Given the description of an element on the screen output the (x, y) to click on. 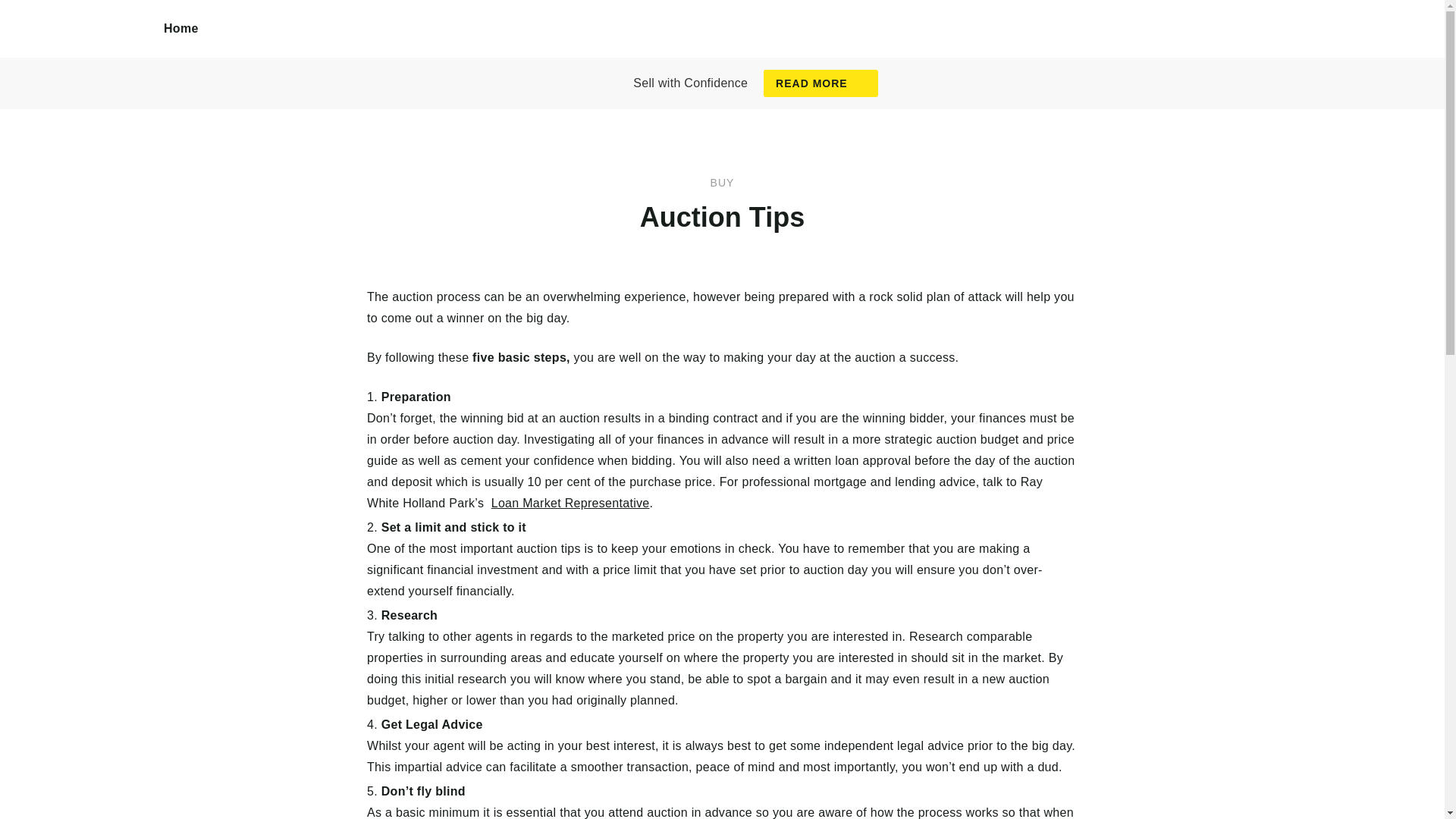
Ray White Holland Park (82, 45)
READ MORE (819, 83)
Home (180, 28)
Loan Market Representative (570, 502)
